Given the description of an element on the screen output the (x, y) to click on. 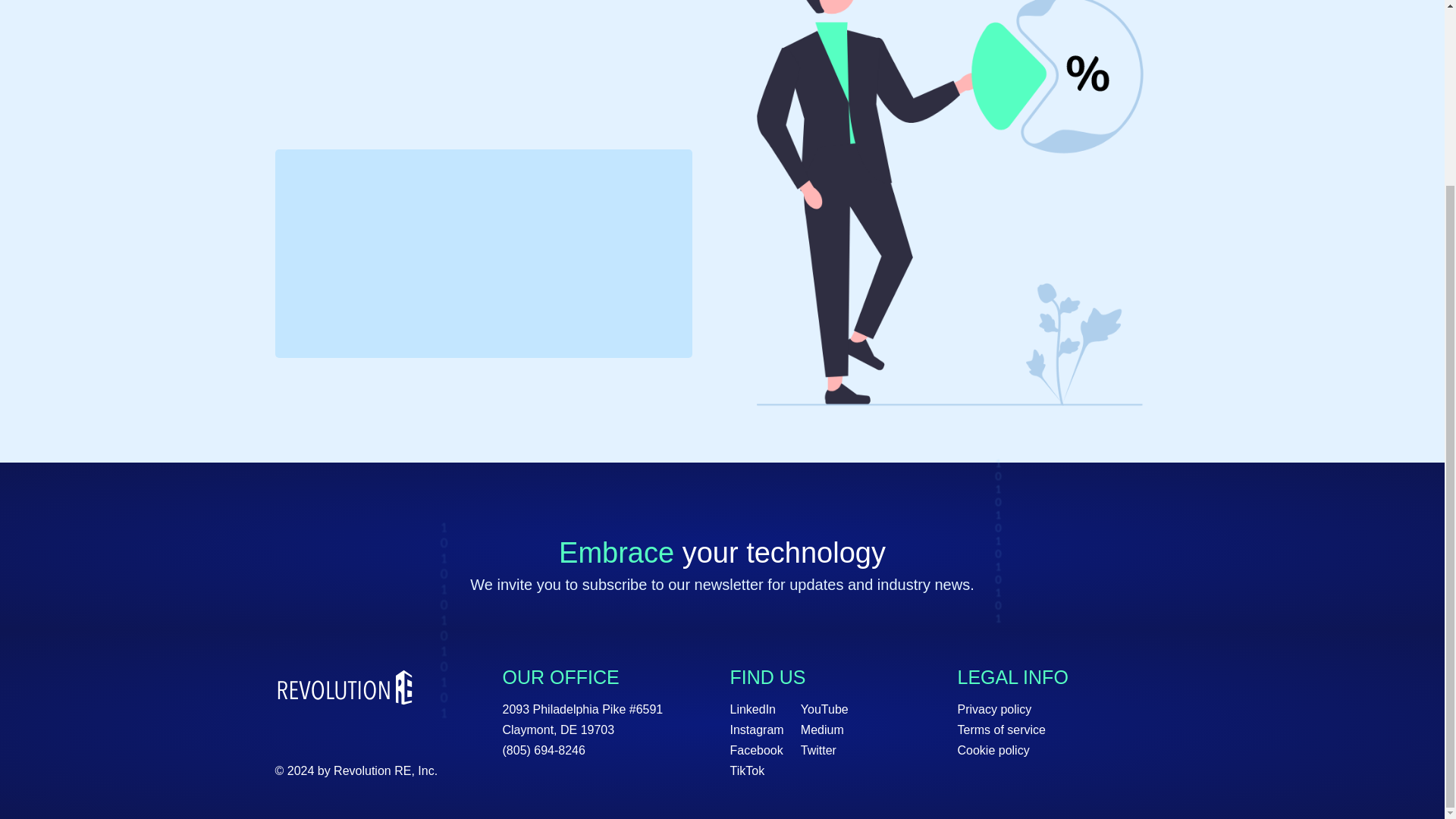
TikTok (764, 770)
Facebook (764, 750)
LinkedIn (764, 709)
Instagram (764, 729)
